Given the description of an element on the screen output the (x, y) to click on. 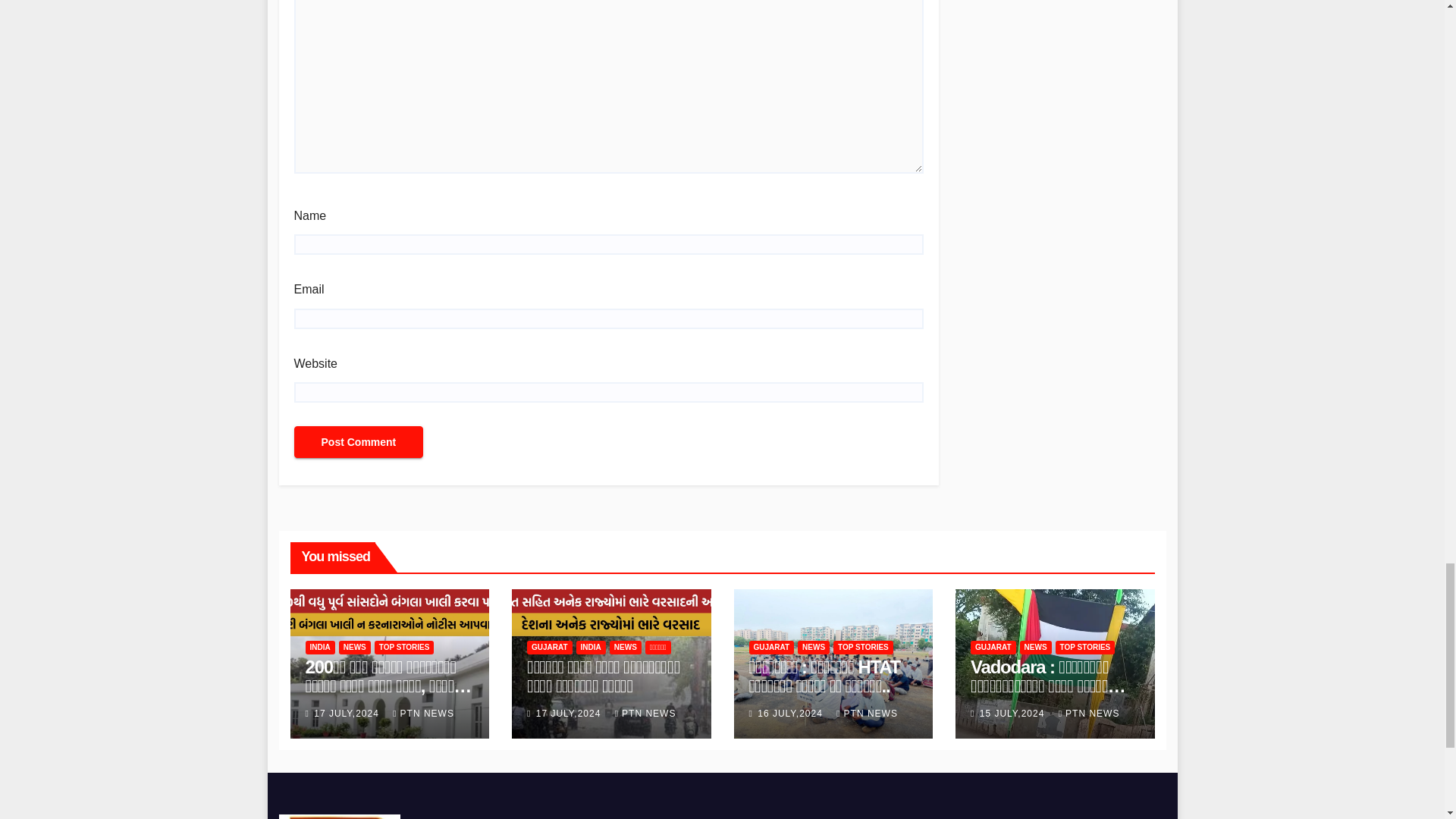
Post Comment (358, 441)
